Given the description of an element on the screen output the (x, y) to click on. 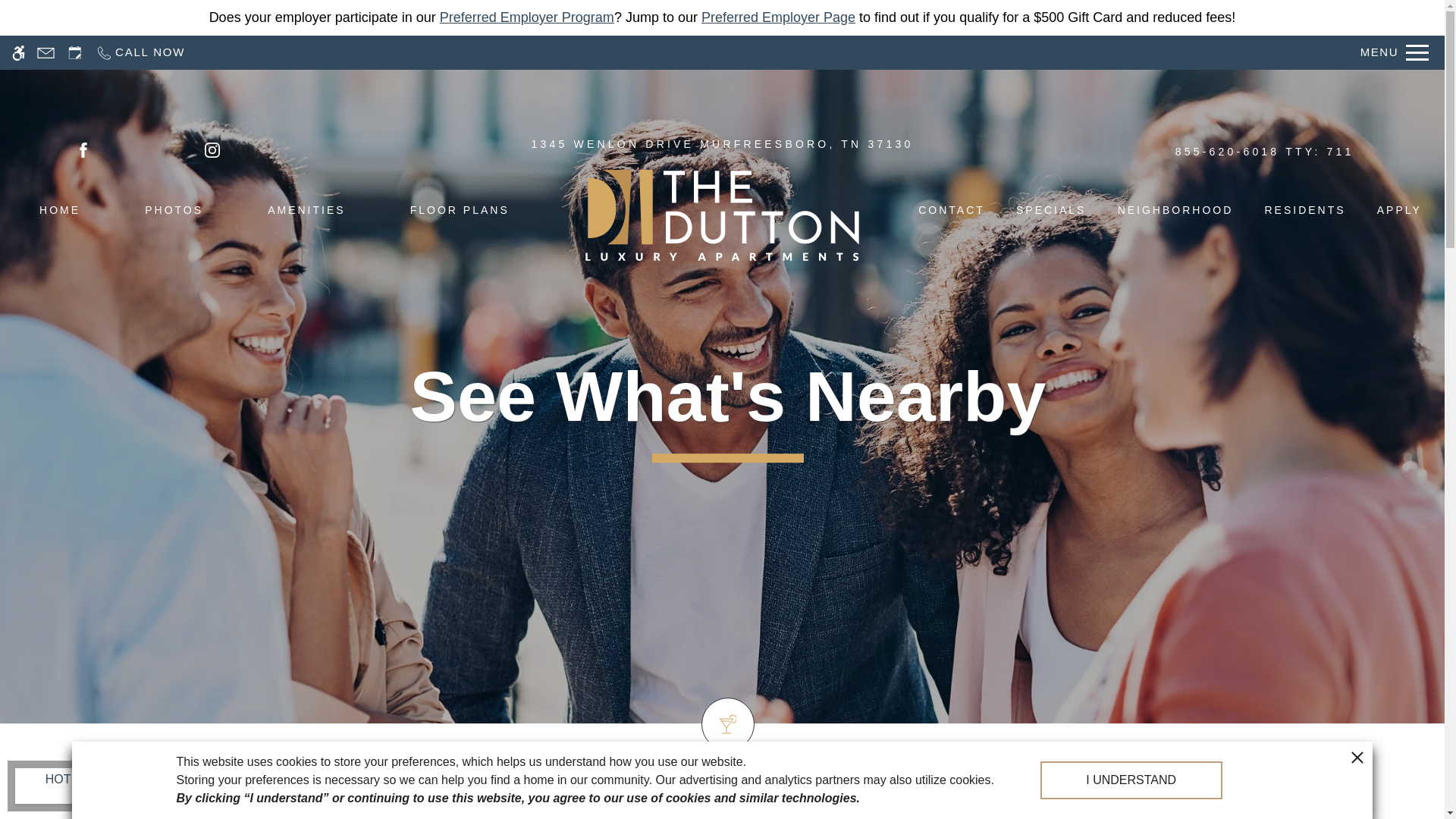
Accessible screen reader (18, 52)
1345 WENLON DRIVE MURFREESBORO, TN 37130 (722, 149)
APPLY (1399, 212)
FLOOR PLANS (459, 212)
Request an appointment (74, 52)
SPECIALS (1051, 212)
MENU (1394, 52)
Preferred Employer Program (526, 17)
HOME (59, 212)
NEIGHBORHOOD (1175, 212)
CONTACT (951, 212)
See What'S Nearby (727, 396)
Preferred Employer Page (778, 17)
Contact page (45, 52)
PHOTOS (173, 212)
